Given the description of an element on the screen output the (x, y) to click on. 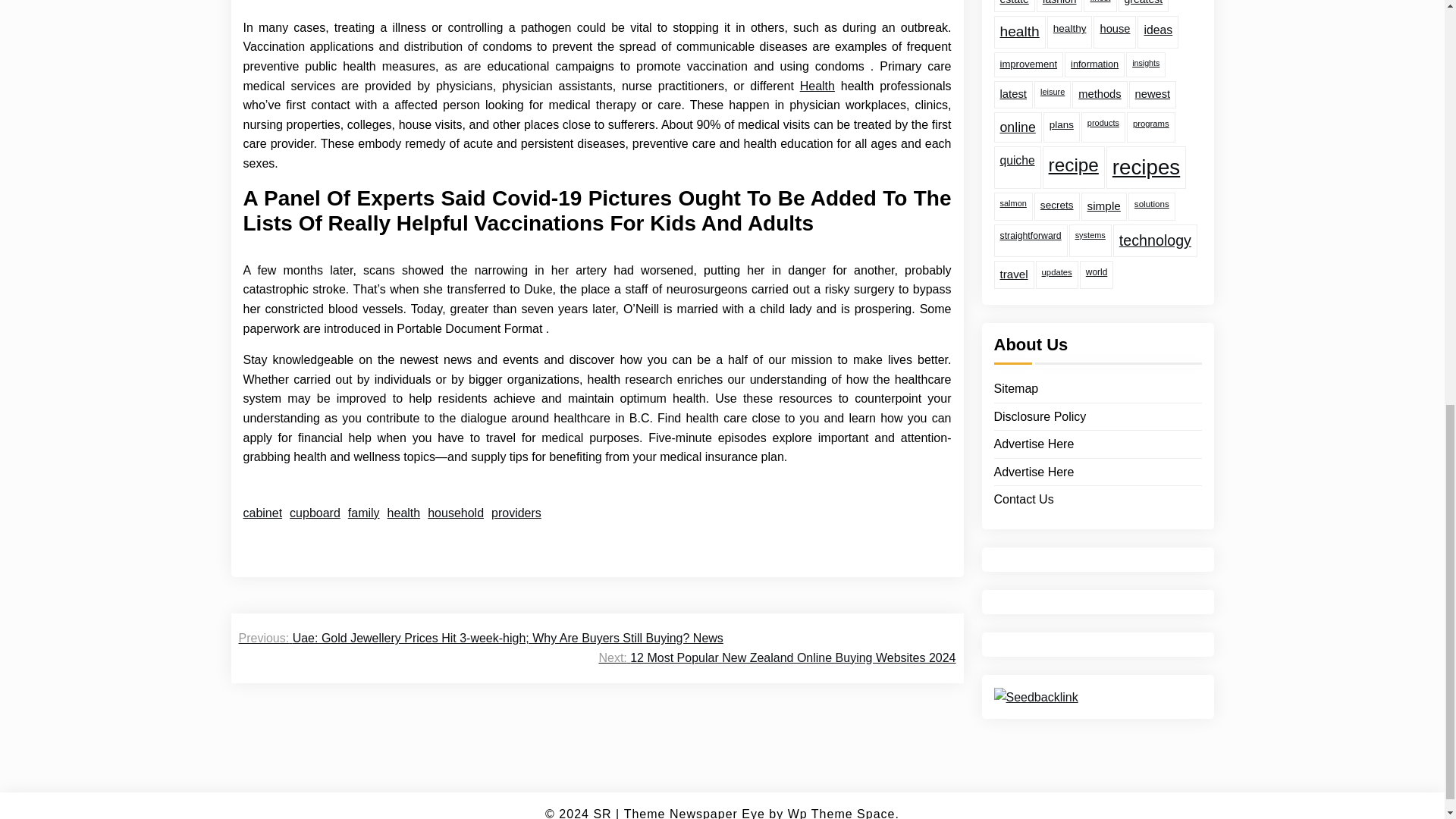
providers (516, 513)
cabinet (262, 513)
Health (816, 86)
cupboard (314, 513)
family (363, 513)
health (403, 513)
household (455, 513)
Seedbacklink (1034, 649)
